Given the description of an element on the screen output the (x, y) to click on. 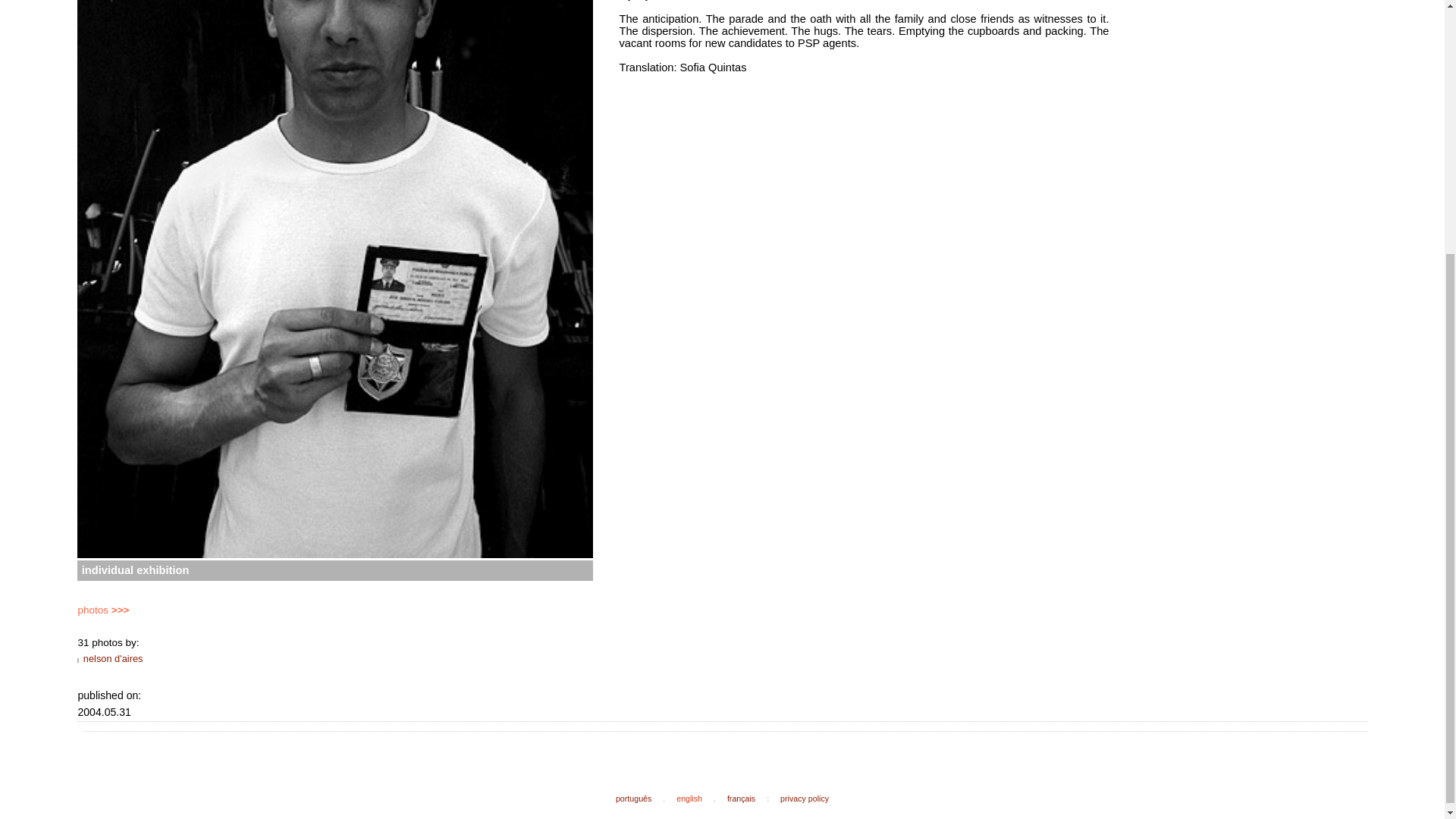
nelson d'aires (112, 658)
english (689, 798)
privacy policy (804, 798)
